Given the description of an element on the screen output the (x, y) to click on. 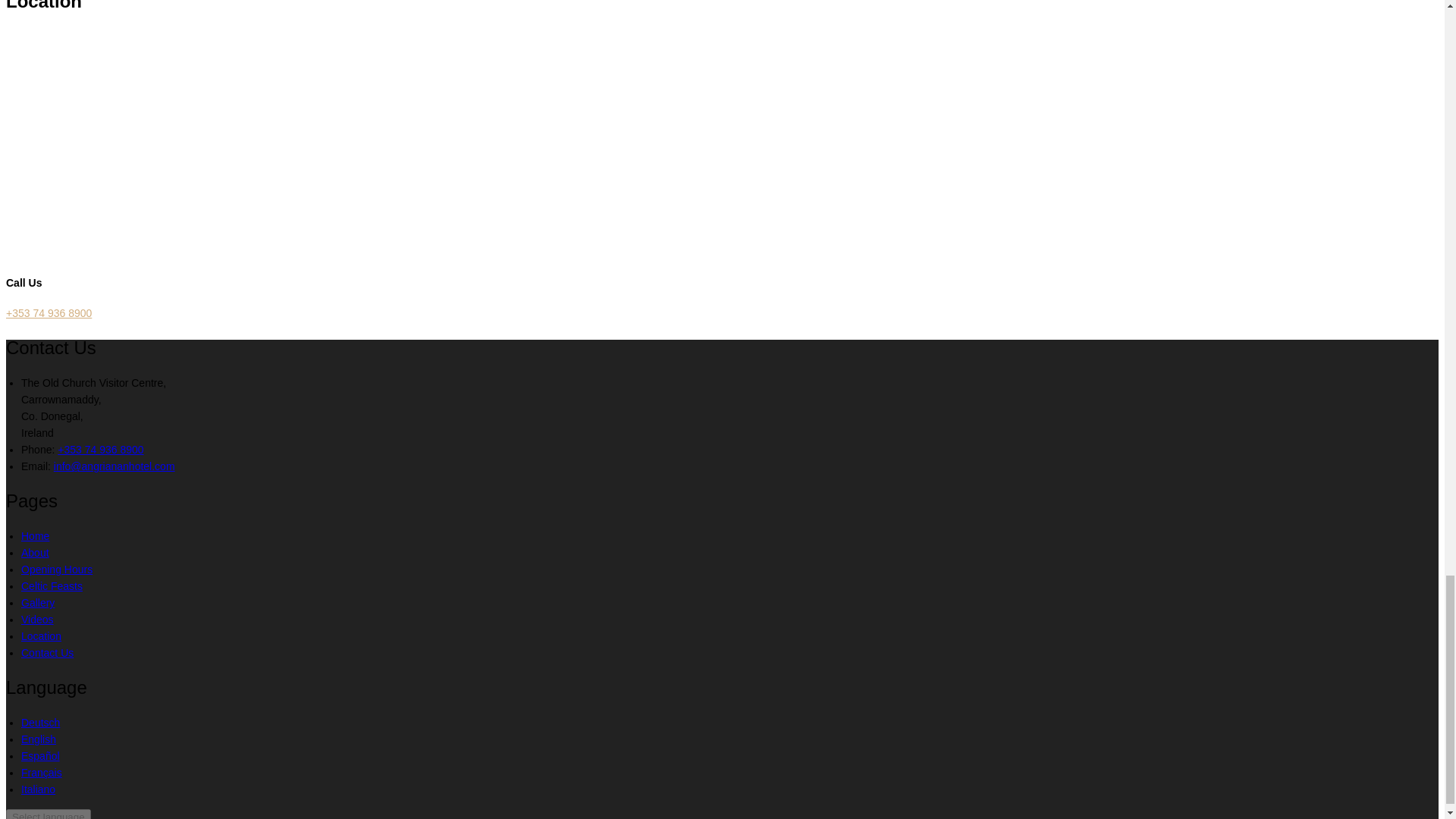
English (38, 739)
Deutsch (40, 722)
Italiano (38, 788)
